Given the description of an element on the screen output the (x, y) to click on. 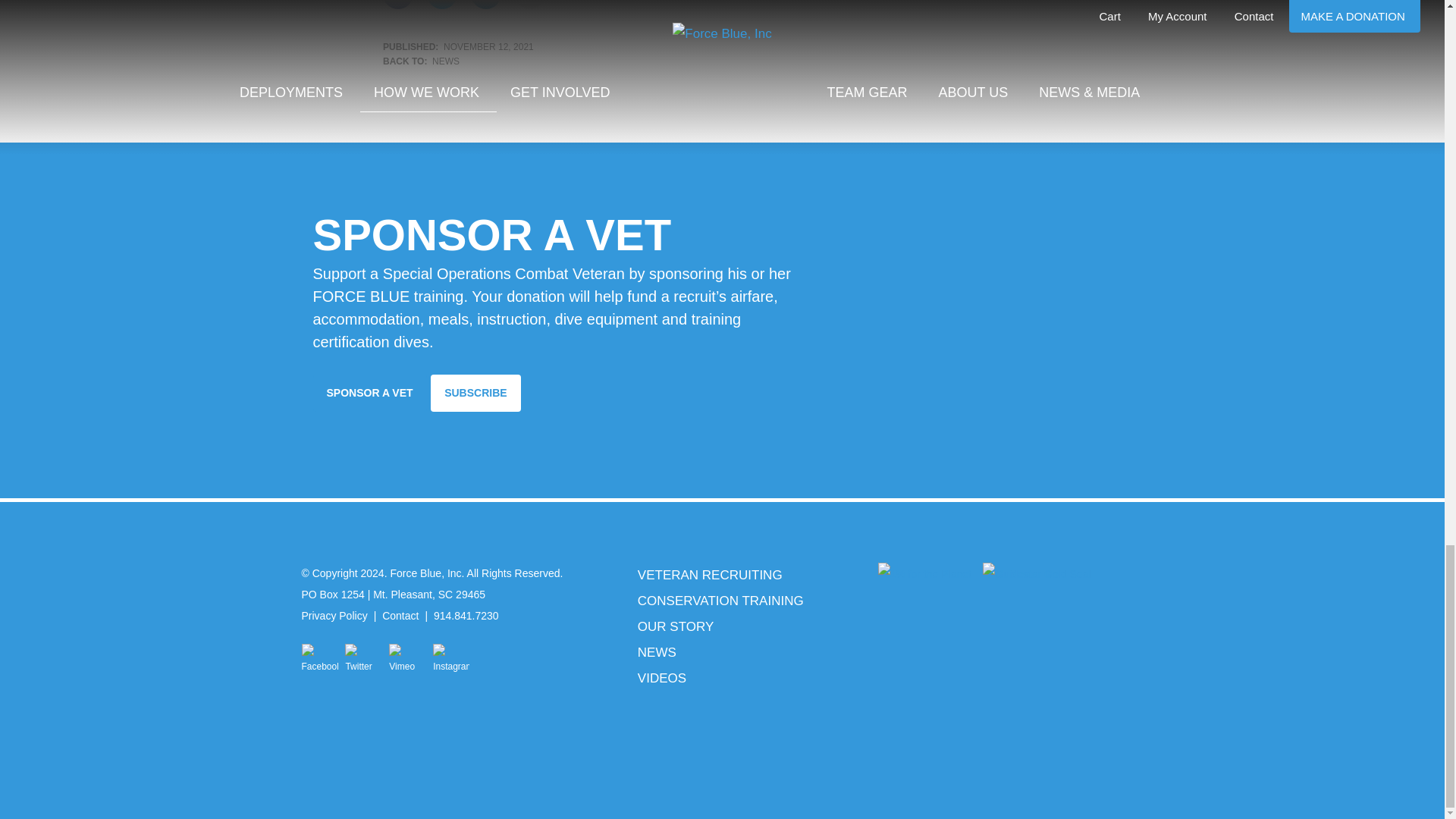
Guidestar Gold Seal (1036, 573)
